Given the description of an element on the screen output the (x, y) to click on. 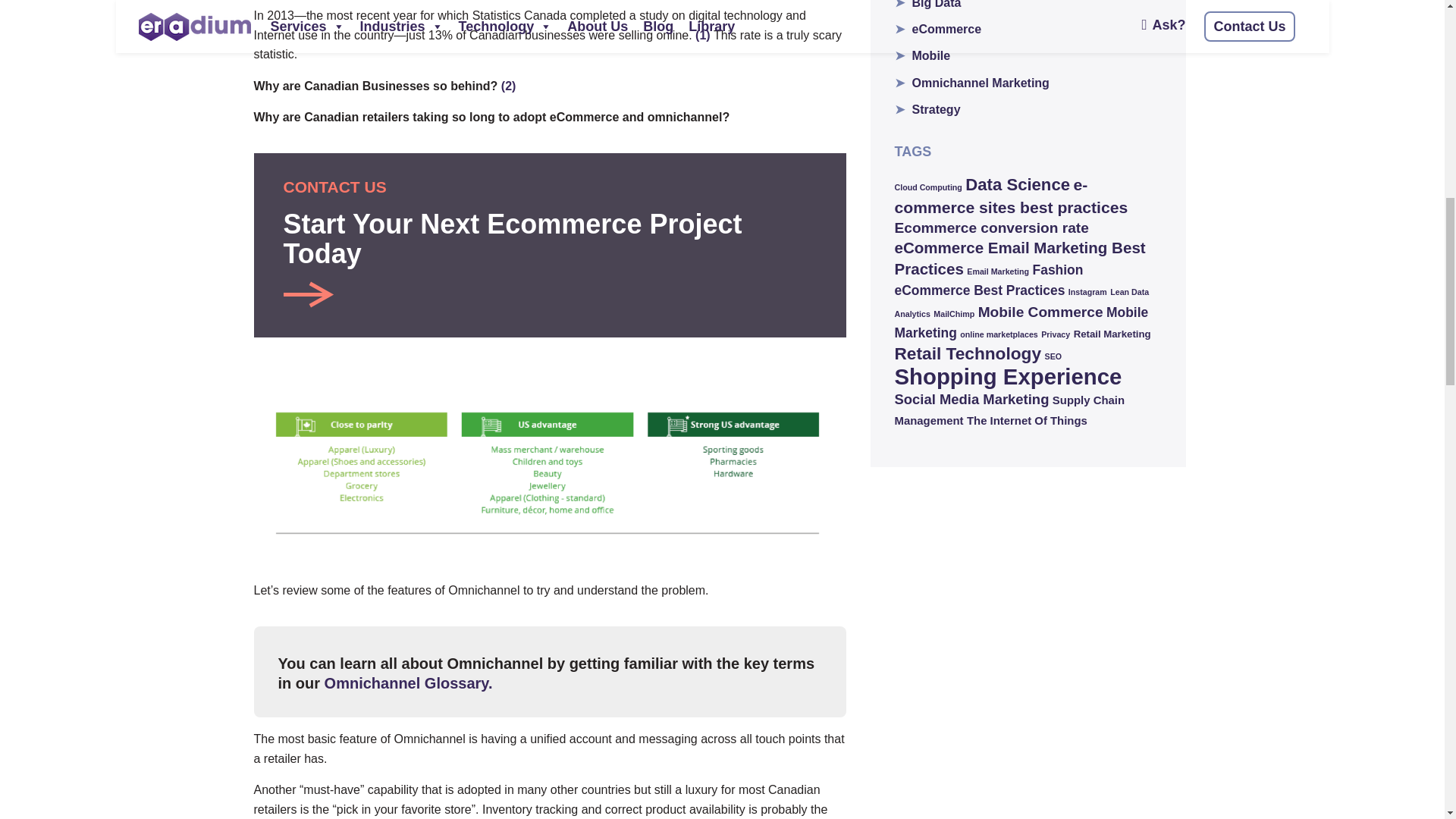
eradium-blog-omnichannel-in-canada (550, 468)
Omnichannel Glossary. (549, 244)
